Given the description of an element on the screen output the (x, y) to click on. 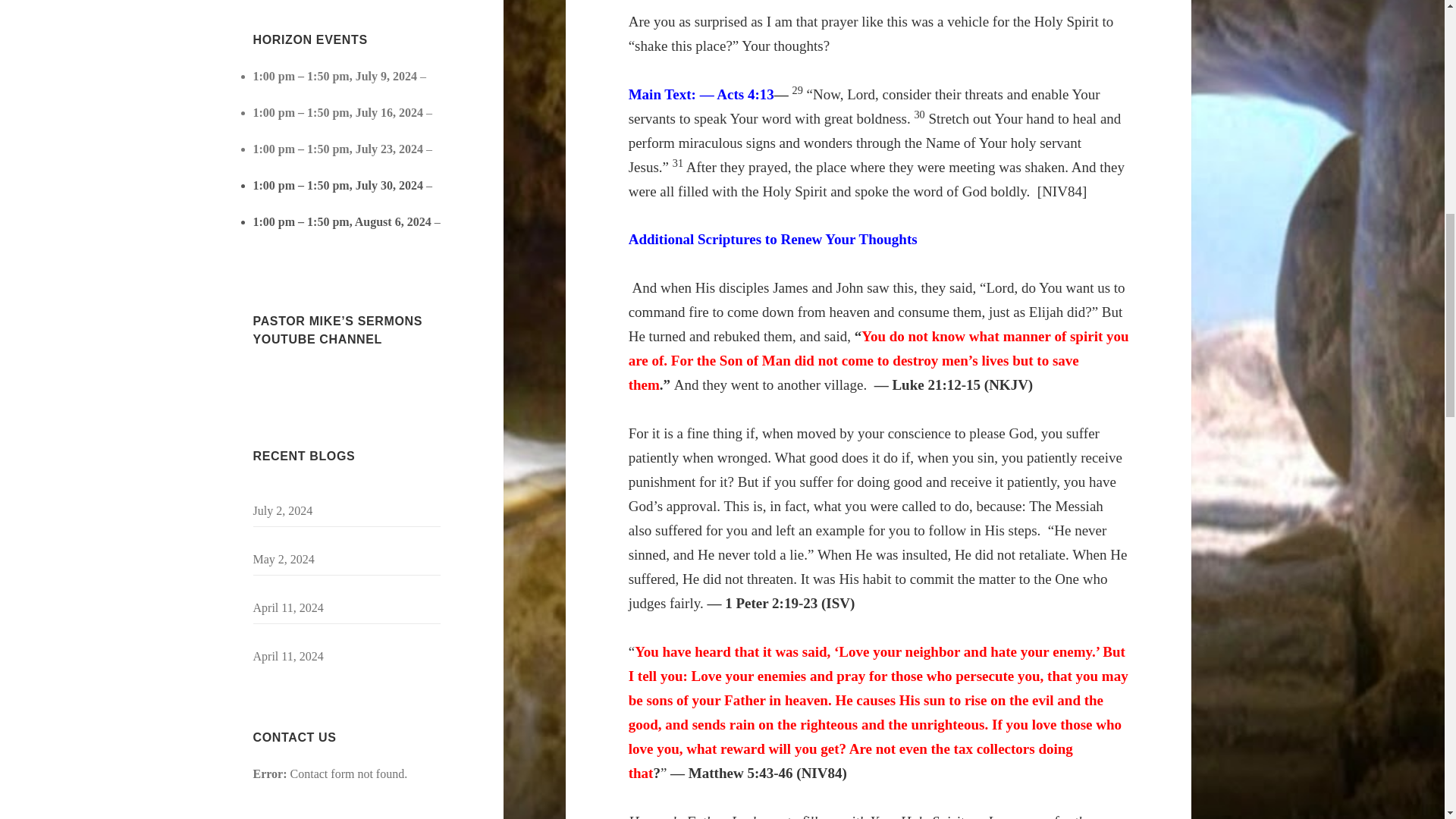
Digging Deeper (292, 166)
Digging Deeper (292, 239)
Digging Deeper (292, 93)
Digging Deeper (292, 130)
Digging Deeper (292, 203)
